Given the description of an element on the screen output the (x, y) to click on. 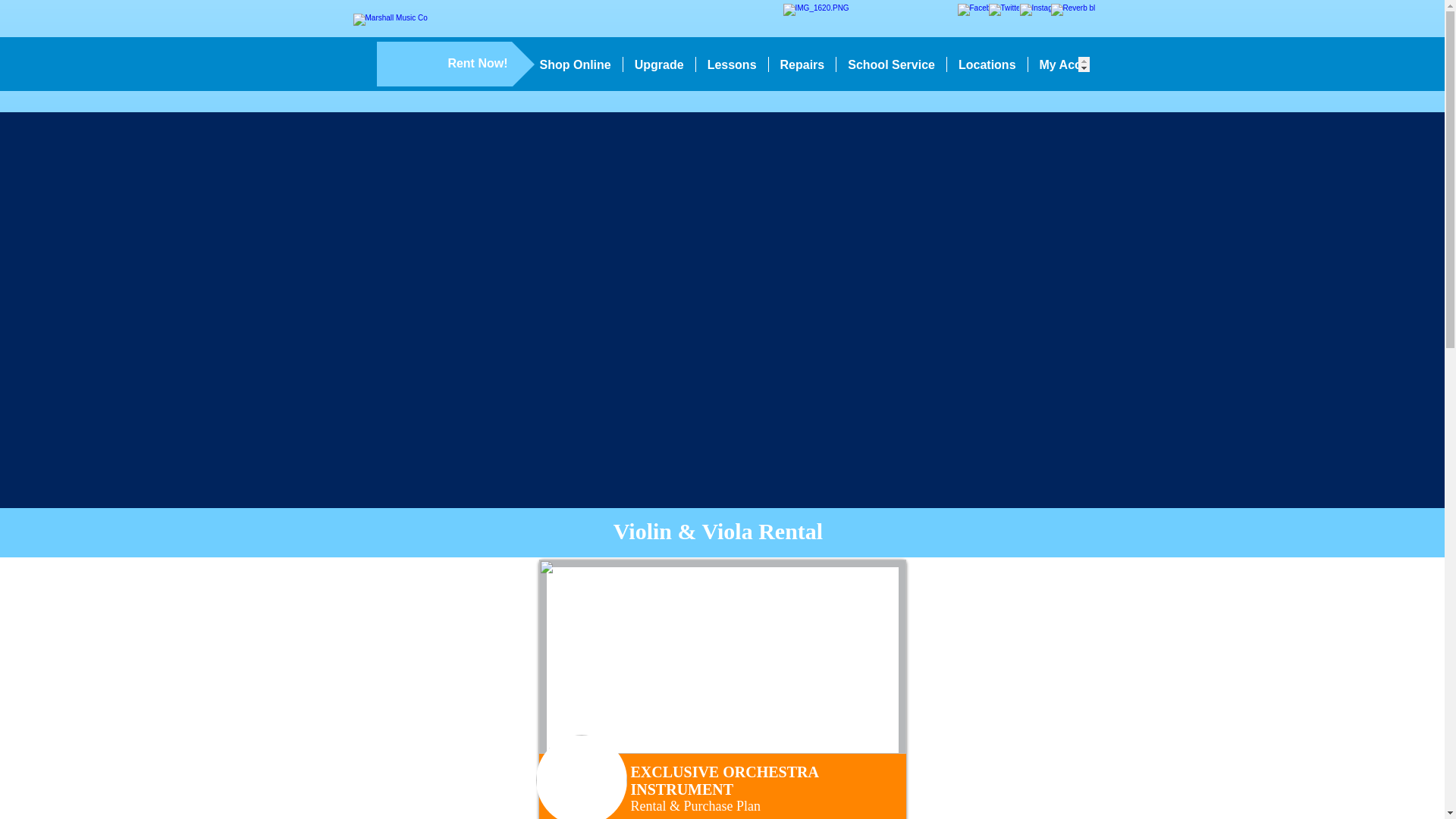
Shop Online (574, 64)
Repairs (801, 64)
Lessons (731, 64)
Upgrade (659, 64)
Marshall Music Co (402, 62)
